Given the description of an element on the screen output the (x, y) to click on. 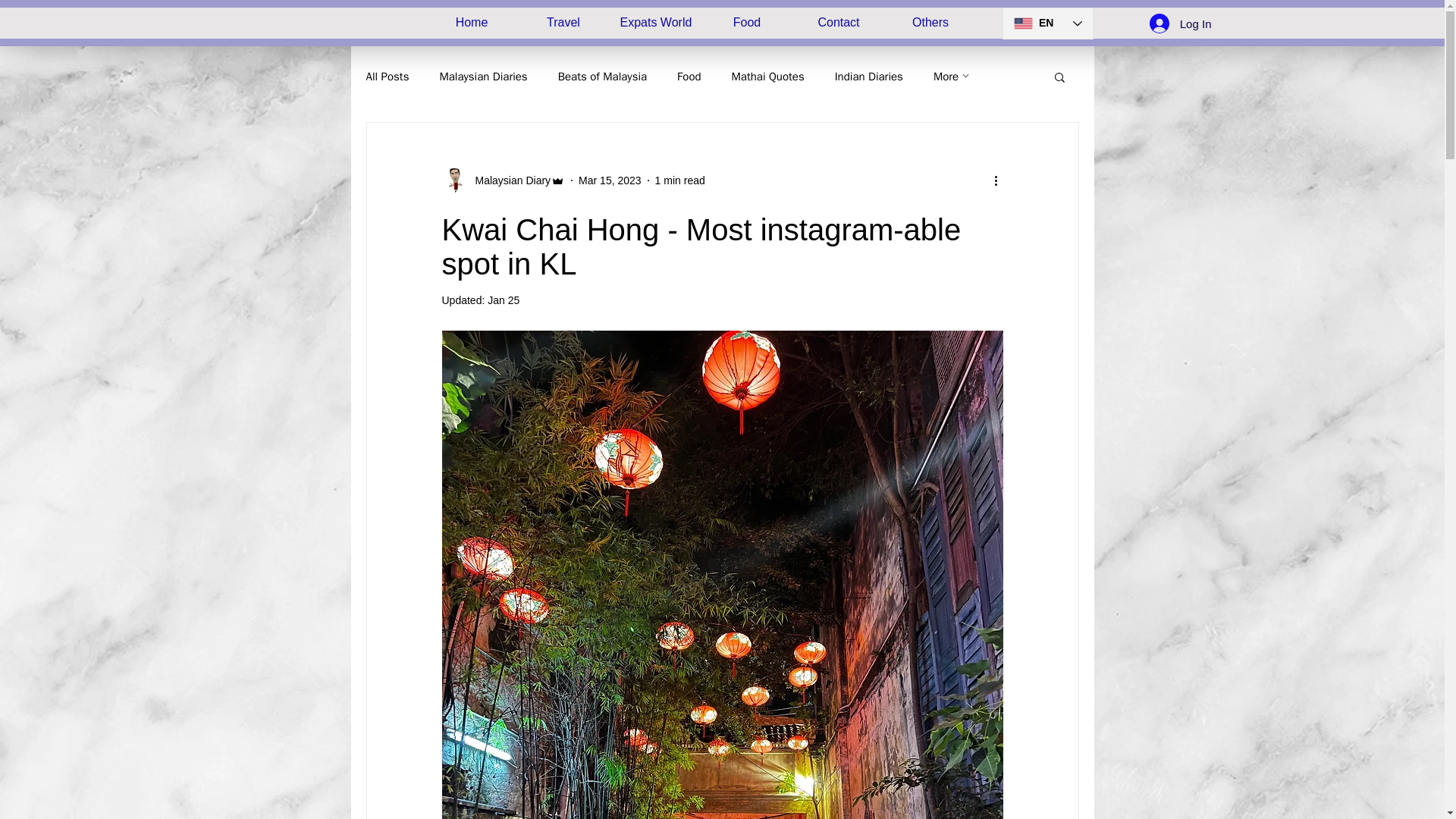
Beats of Malaysia (601, 76)
Others (929, 21)
Malaysian Diary (507, 180)
Indian Diaries (868, 76)
Home (472, 21)
Malaysian Diary (502, 180)
Contact (839, 21)
Food (746, 21)
Mathai Quotes (768, 76)
Food (688, 76)
Travel (562, 21)
All Posts (387, 76)
Log In (1180, 23)
Jan 25 (503, 300)
Mar 15, 2023 (610, 180)
